Given the description of an element on the screen output the (x, y) to click on. 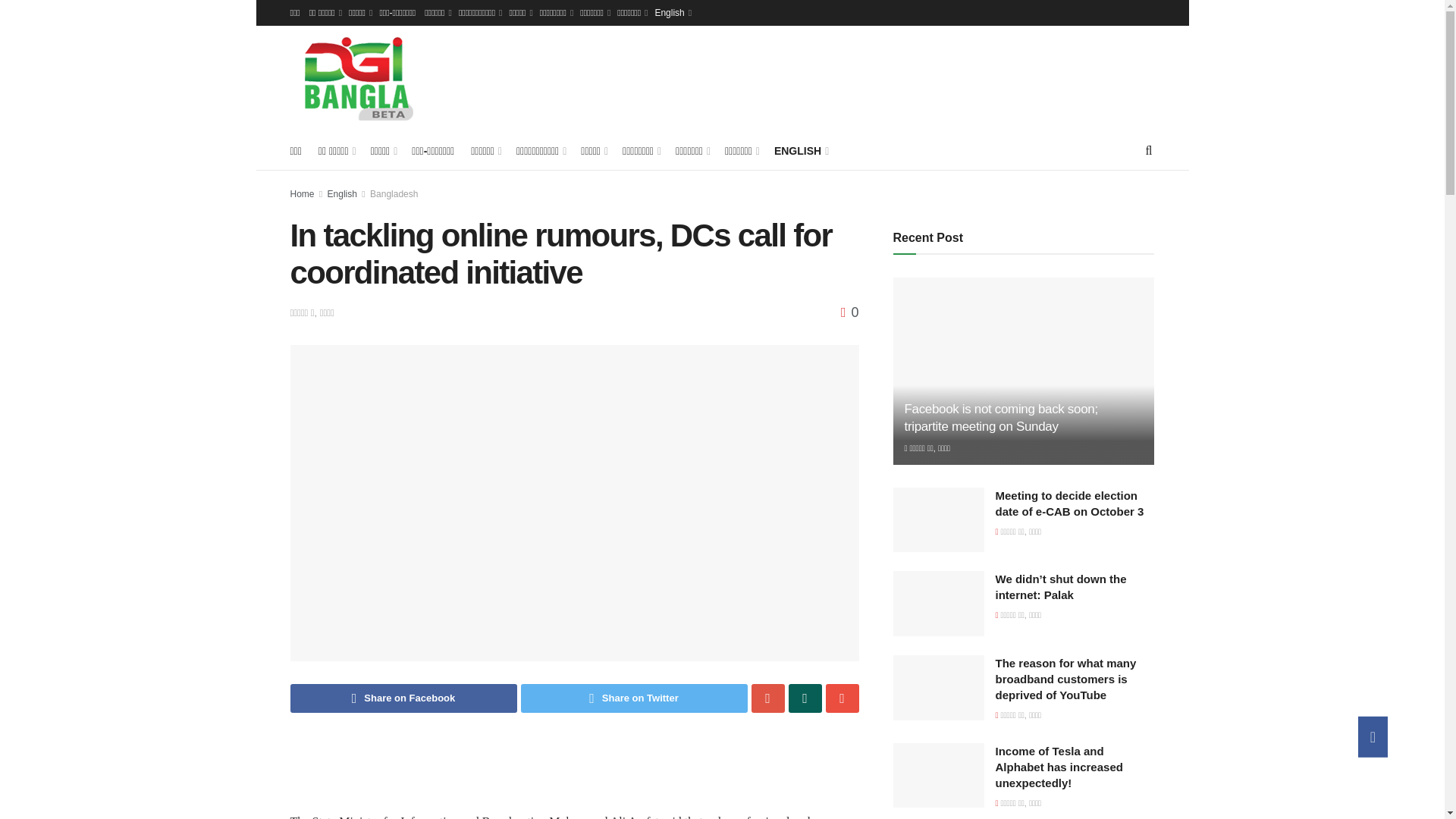
Advertisement (574, 773)
Advertisement (814, 76)
